Given the description of an element on the screen output the (x, y) to click on. 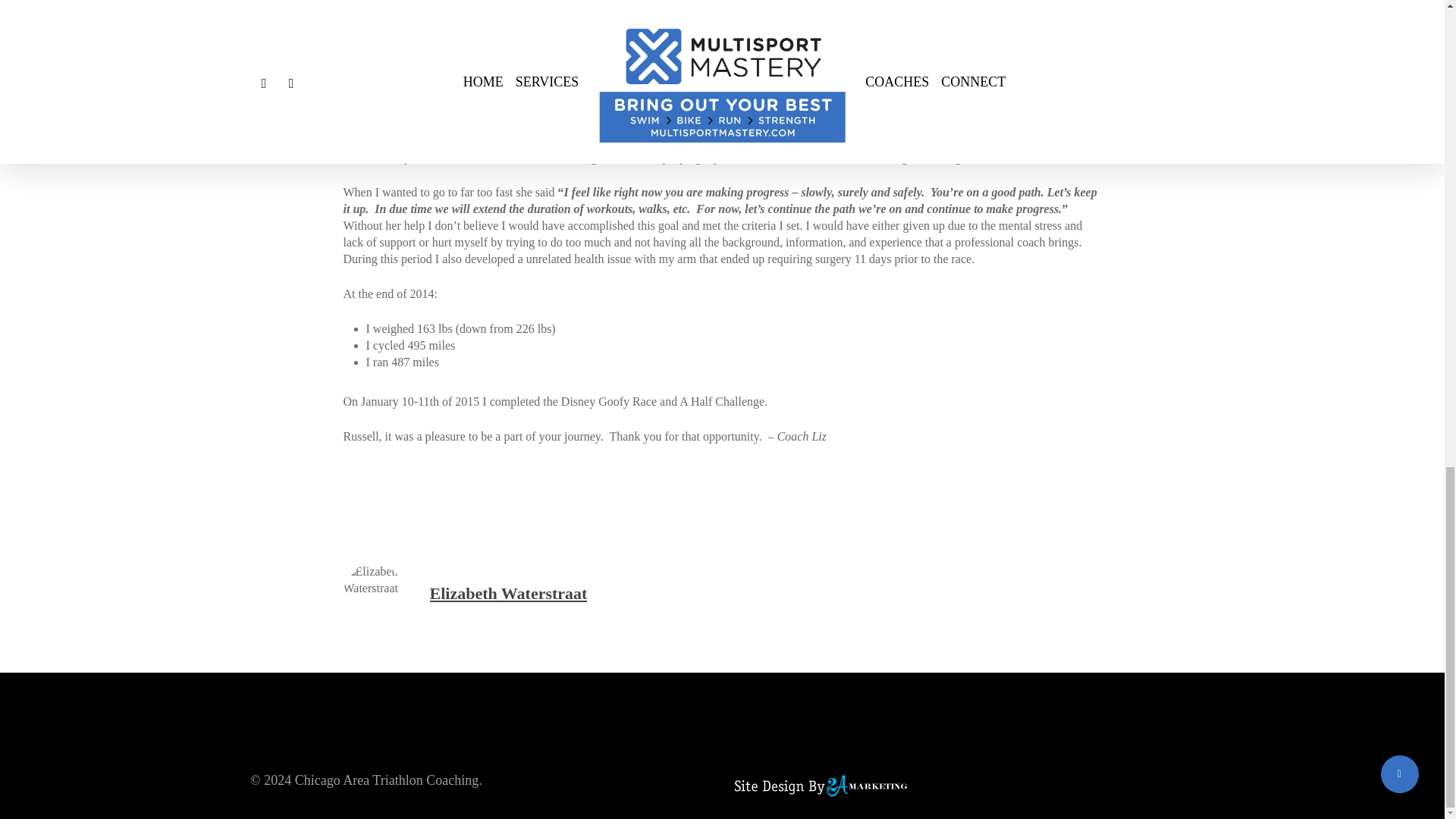
Elizabeth Waterstraat (507, 592)
